Given the description of an element on the screen output the (x, y) to click on. 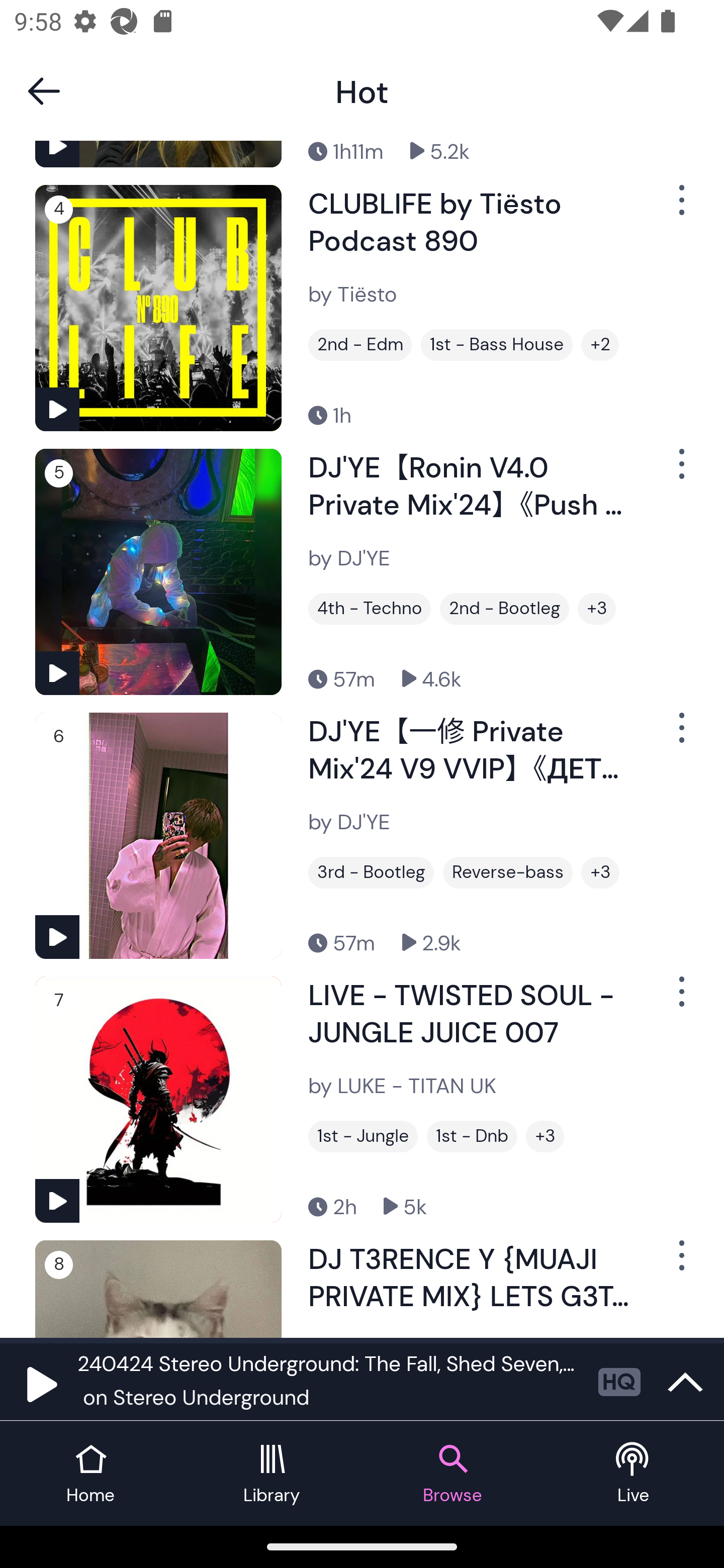
Show Options Menu Button (679, 207)
2nd - Edm (359, 344)
1st - Bass House (496, 344)
Show Options Menu Button (679, 470)
4th - Techno (369, 608)
2nd - Bootleg (504, 608)
Show Options Menu Button (679, 734)
3rd - Bootleg (370, 872)
Reverse-bass (507, 872)
Show Options Menu Button (679, 999)
1st - Jungle (362, 1136)
1st - Dnb (472, 1136)
Show Options Menu Button (679, 1262)
Home tab Home (90, 1473)
Library tab Library (271, 1473)
Browse tab Browse (452, 1473)
Live tab Live (633, 1473)
